Given the description of an element on the screen output the (x, y) to click on. 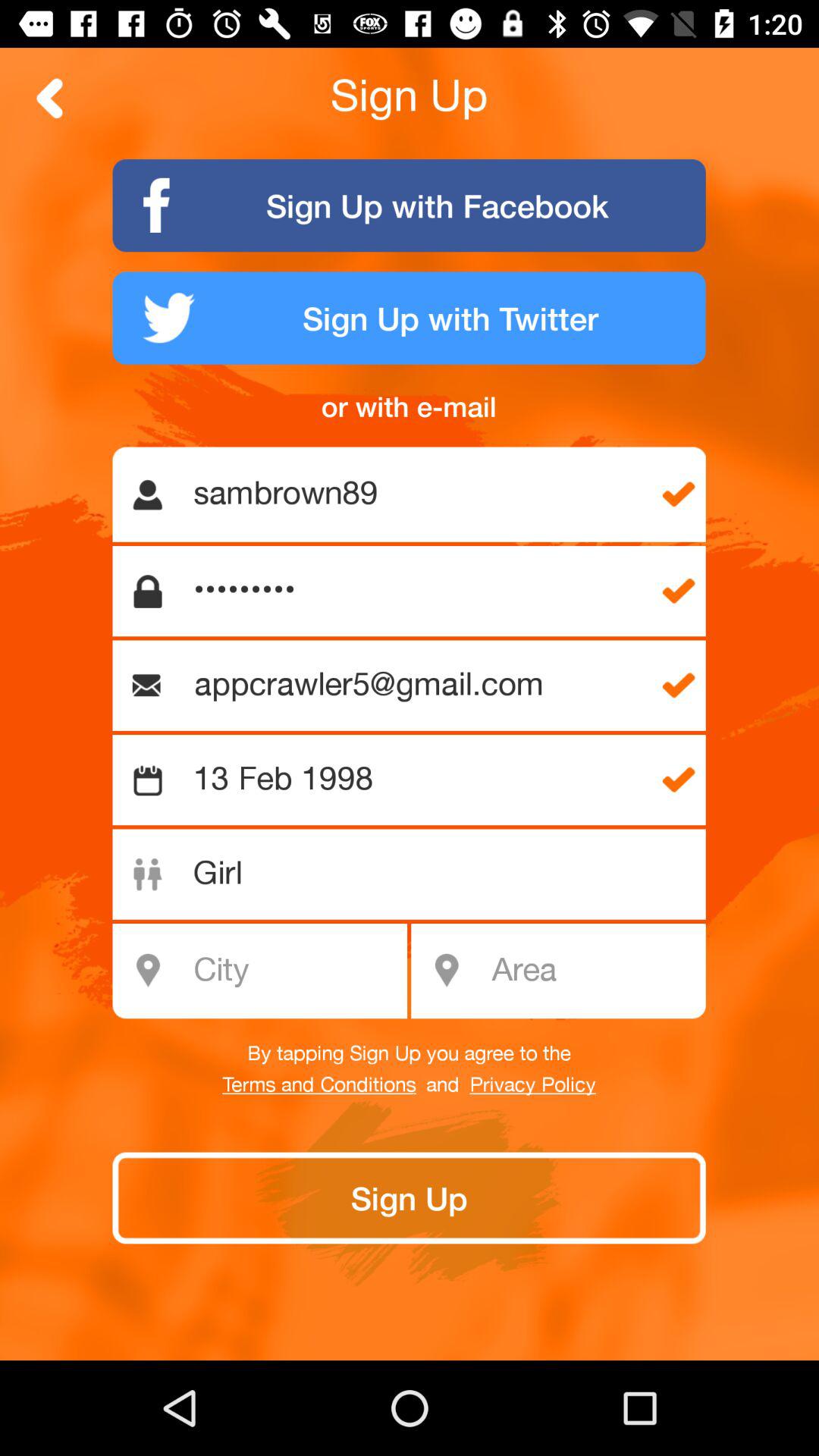
open the icon to the right of and icon (532, 1085)
